Given the description of an element on the screen output the (x, y) to click on. 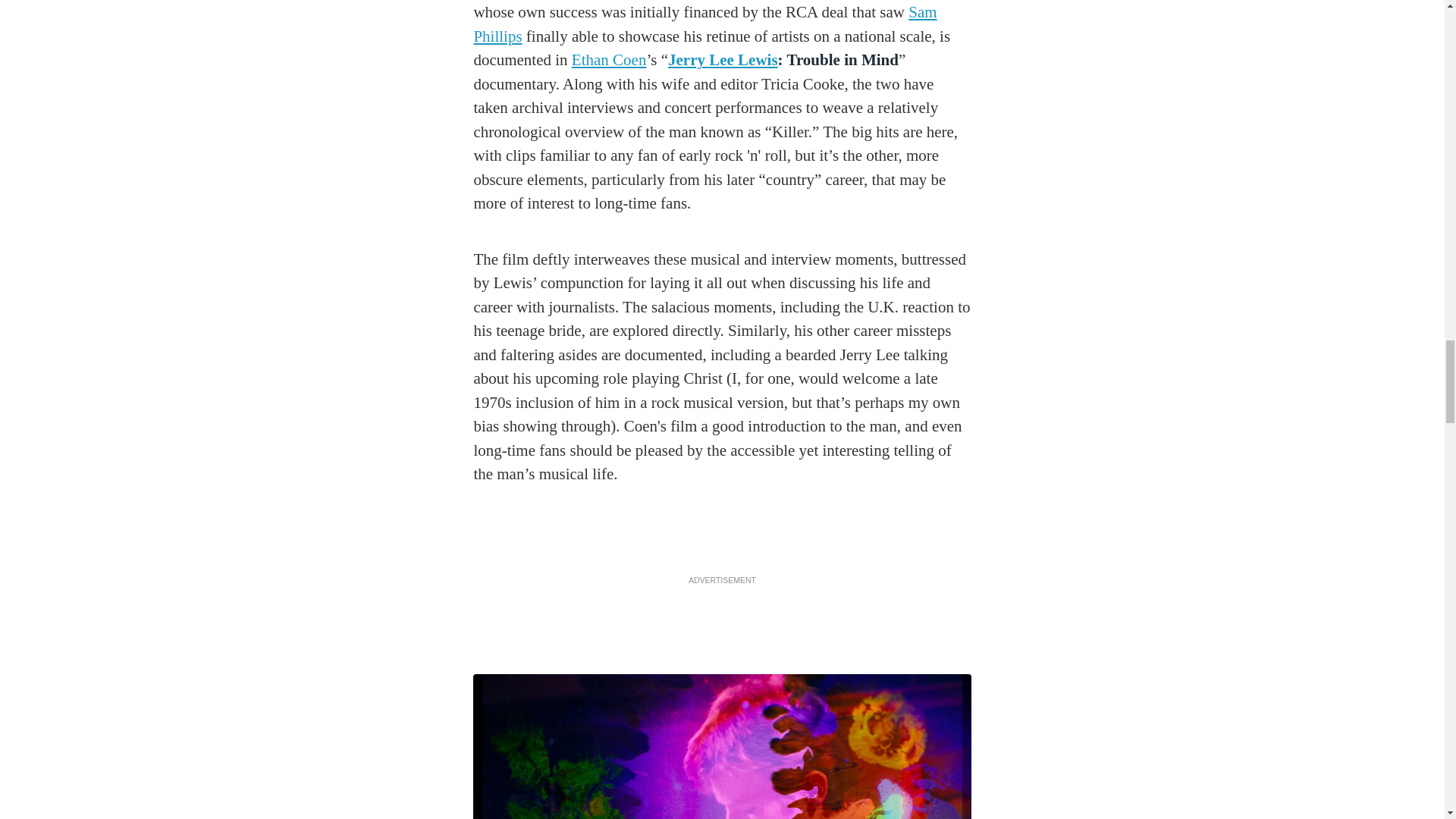
Ethan Coen (609, 59)
Jerry Lee Lewis (722, 59)
Sam Phillips (704, 24)
